Given the description of an element on the screen output the (x, y) to click on. 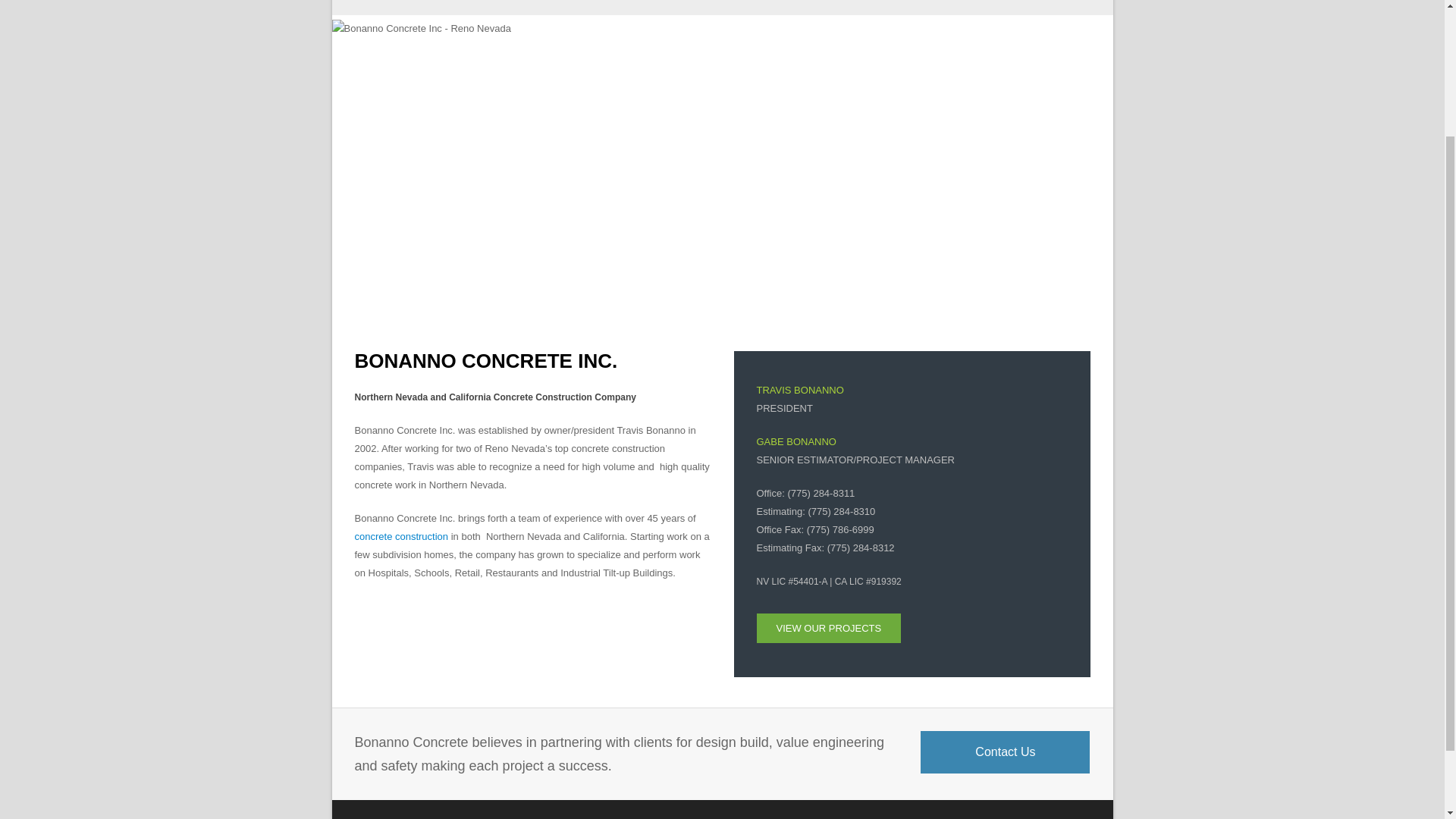
Contact Us (1004, 752)
concrete construction (401, 536)
Contact Us (1004, 752)
TRAVIS BONANNO (800, 389)
GABE BONANNO (796, 441)
Bonanno Concrete Construction Projects (829, 627)
VIEW OUR PROJECTS (829, 627)
